Given the description of an element on the screen output the (x, y) to click on. 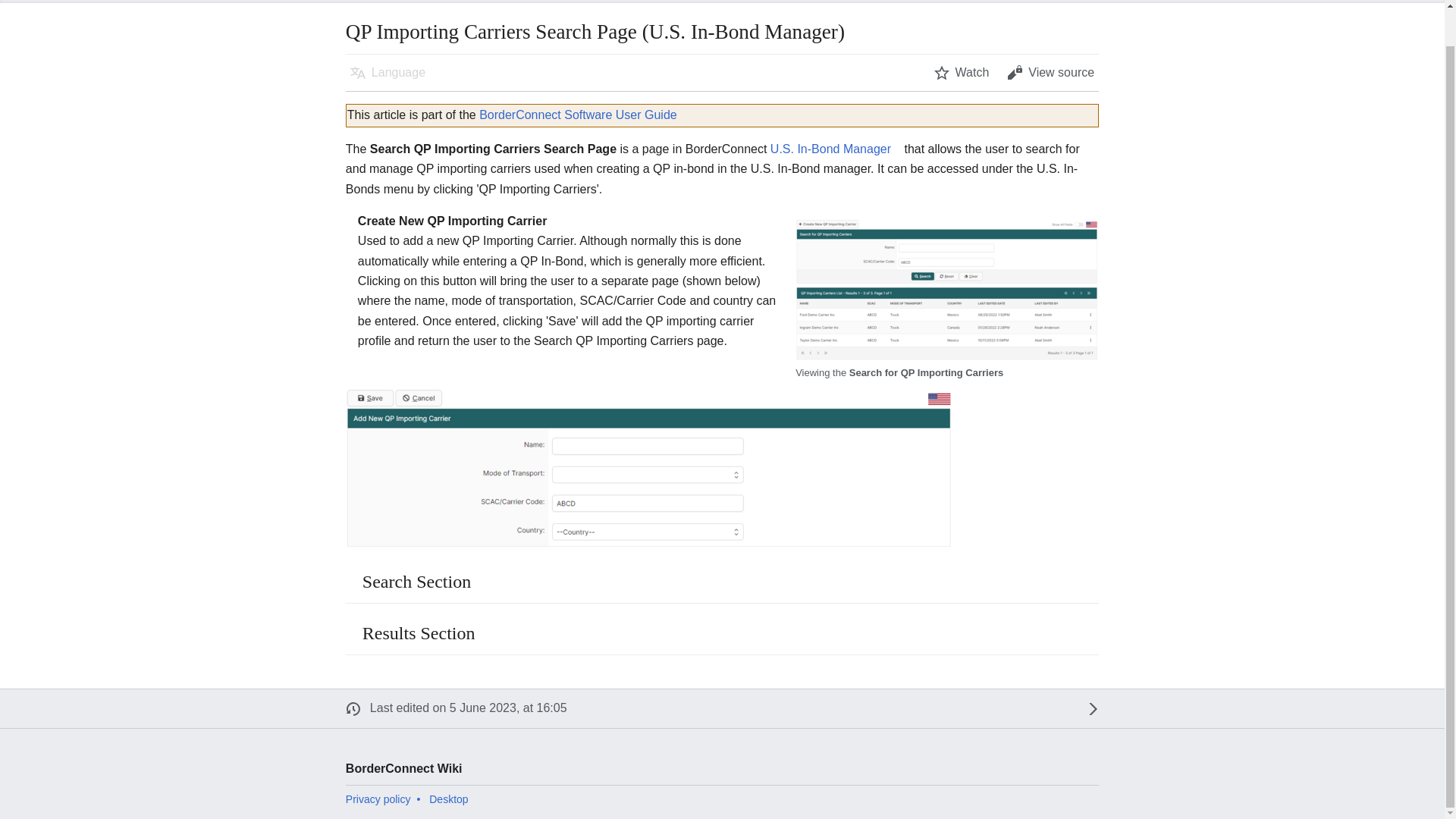
View source (1050, 72)
Language (386, 72)
Language (386, 72)
BorderConnect Software User Guide (578, 114)
Watch (961, 72)
U.S. In-Bond Manager (835, 148)
BorderConnect Software User Guide (578, 114)
Privacy policy (378, 799)
Desktop (448, 799)
